Given the description of an element on the screen output the (x, y) to click on. 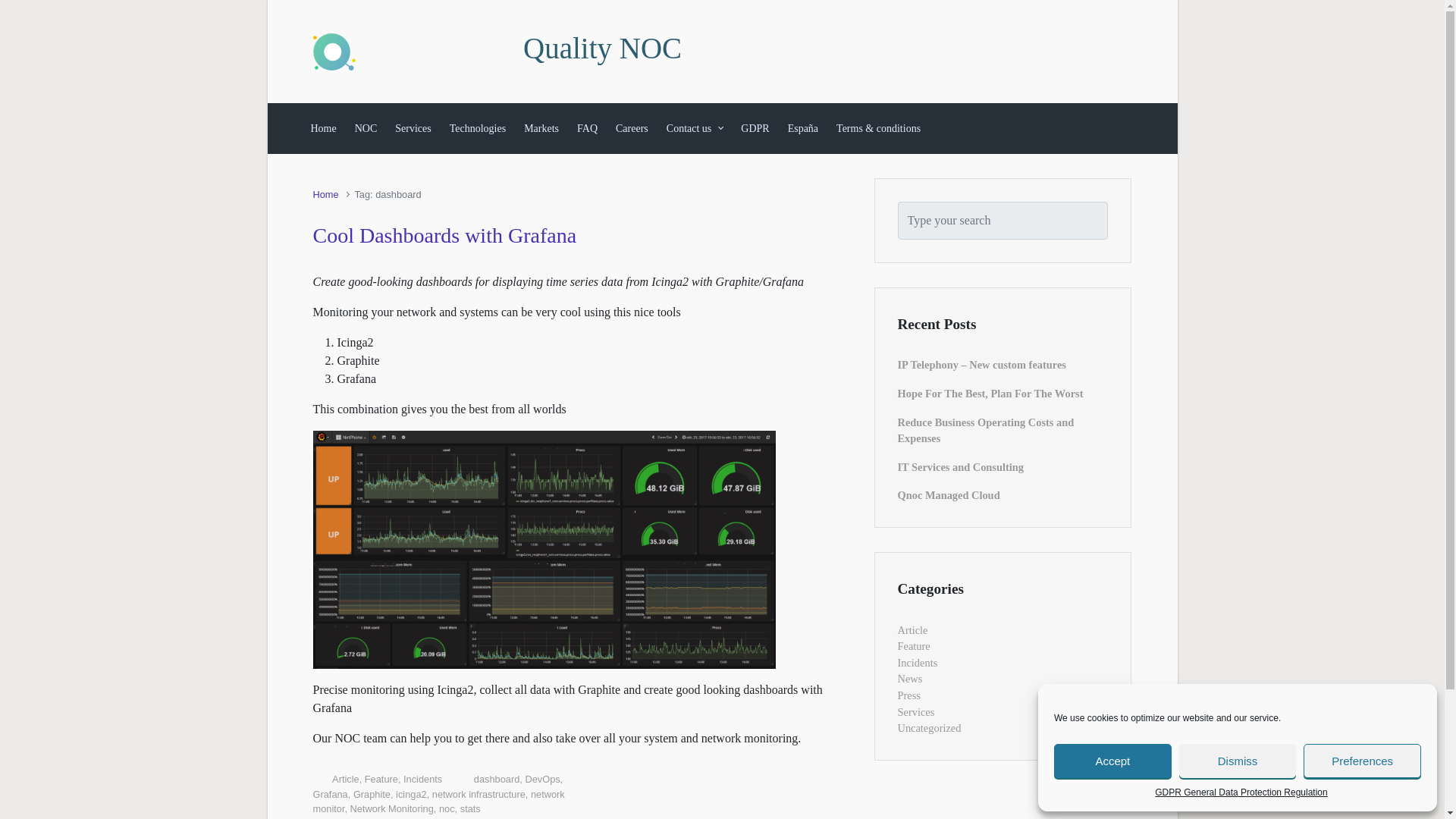
Contact us (695, 128)
Quality NOC (601, 47)
Preferences (1362, 760)
Careers (631, 128)
Home (323, 128)
GDPR General Data Protection Regulation (1240, 792)
Services (412, 128)
Skip to main content (17, 8)
Accept (1113, 760)
NOC (366, 128)
Markets (541, 128)
Dismiss (1238, 760)
Technologies (478, 128)
